Given the description of an element on the screen output the (x, y) to click on. 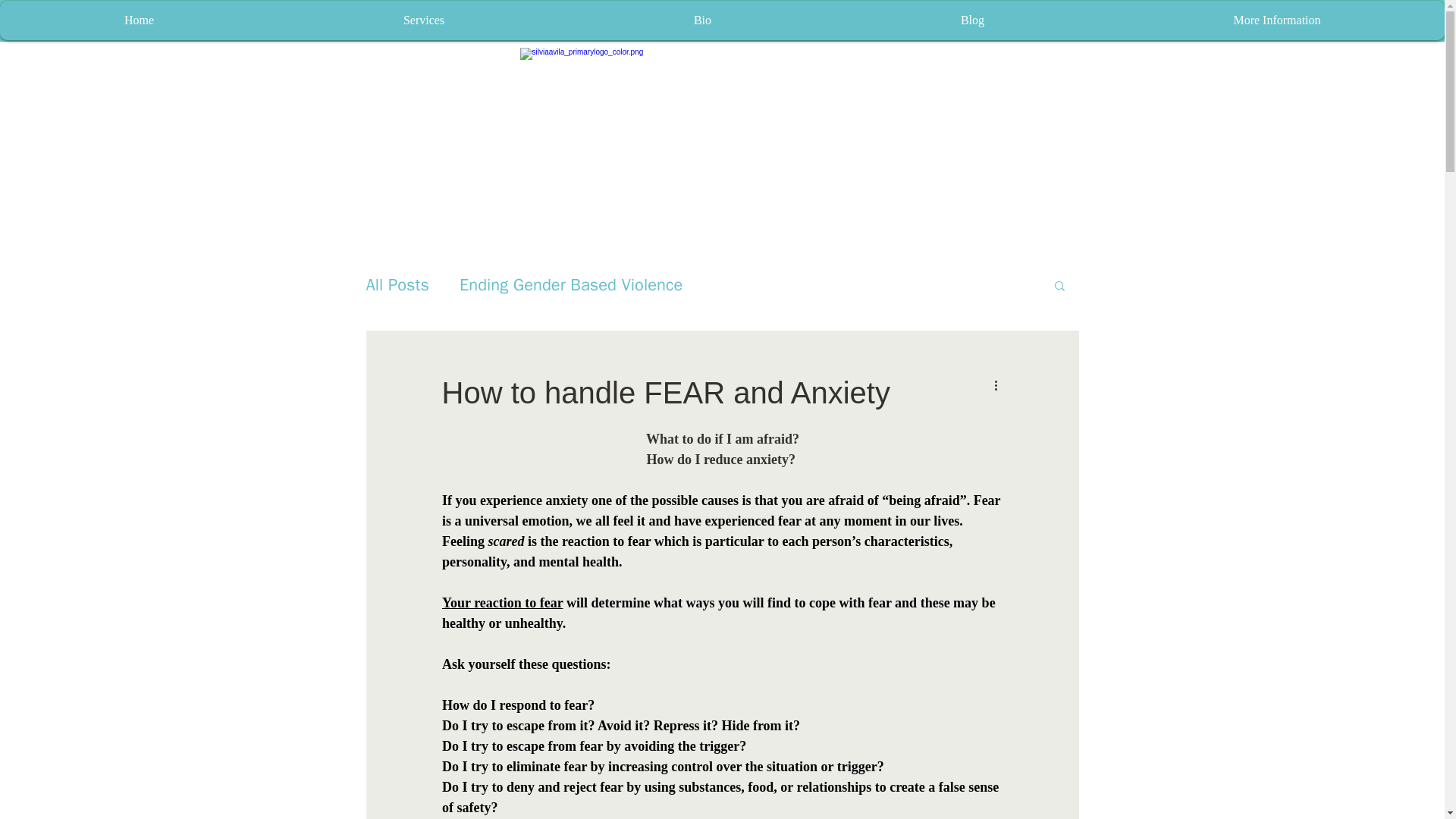
Home (139, 20)
Ending Gender Based Violence (571, 284)
All Posts (397, 284)
Bio (702, 20)
Blog (971, 20)
BIO (586, 7)
